Given the description of an element on the screen output the (x, y) to click on. 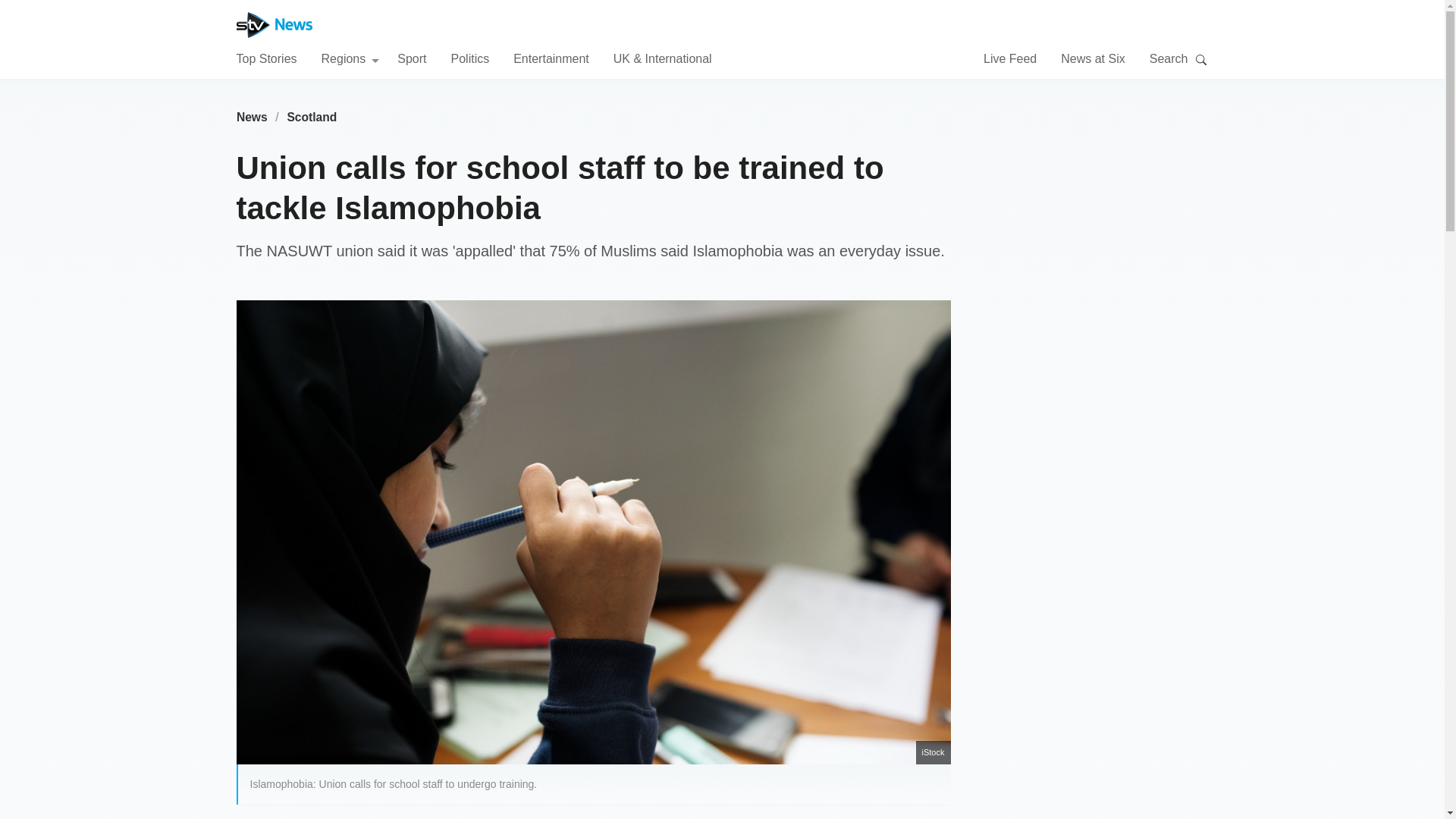
Scotland (312, 116)
Regions (350, 57)
Live Feed (1010, 57)
News (252, 116)
Top Stories (266, 57)
News at Six (1092, 57)
Entertainment (551, 57)
Politics (469, 57)
Search (1201, 59)
